Given the description of an element on the screen output the (x, y) to click on. 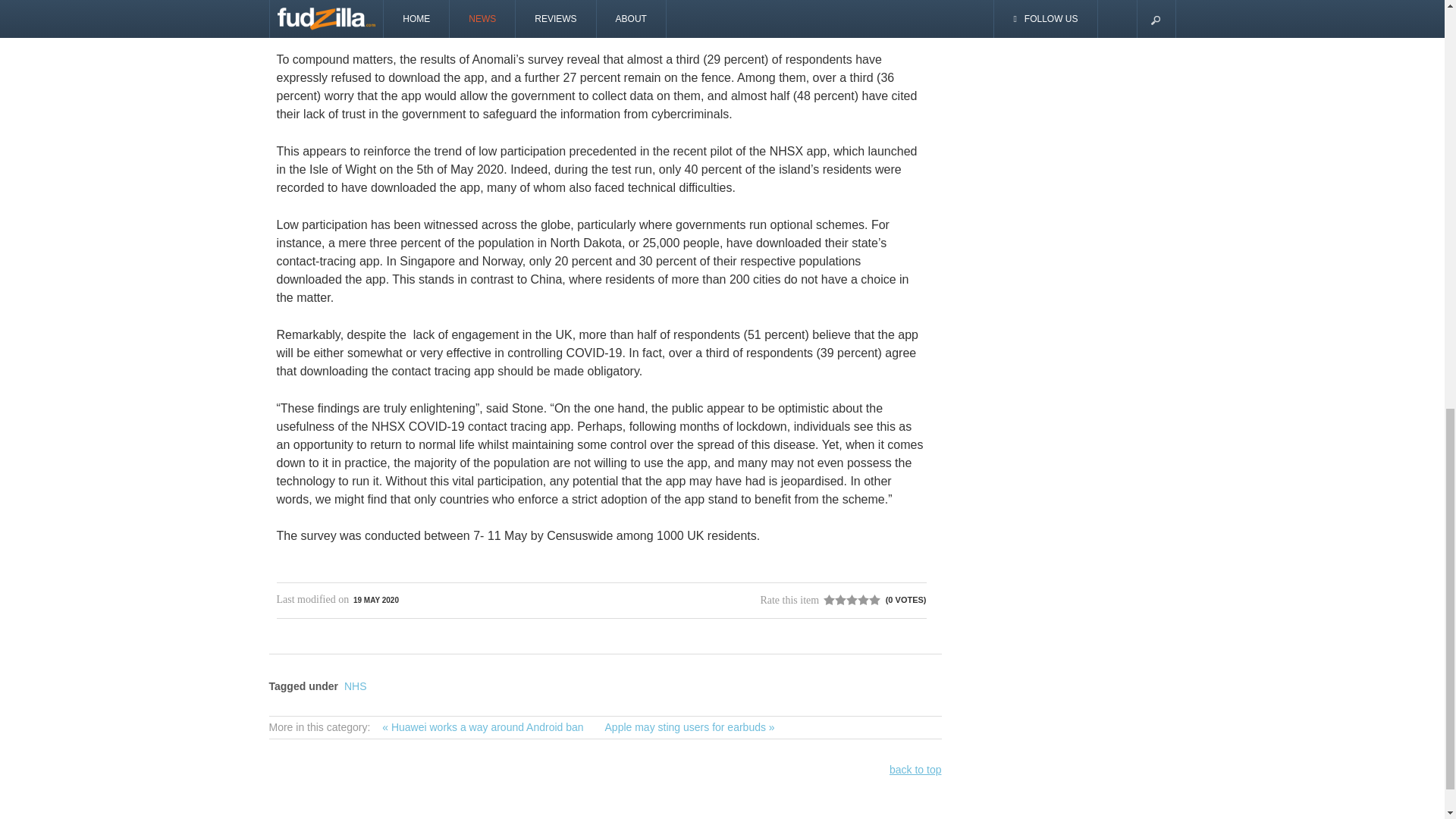
4 (846, 599)
1 (829, 599)
3 (840, 599)
NHS (354, 686)
2 stars out of 5 (834, 599)
back to top (915, 769)
5 stars out of 5 (852, 599)
4 stars out of 5 (846, 599)
3 stars out of 5 (840, 599)
5 (852, 599)
1 star out of 5 (829, 599)
2 (834, 599)
